Given the description of an element on the screen output the (x, y) to click on. 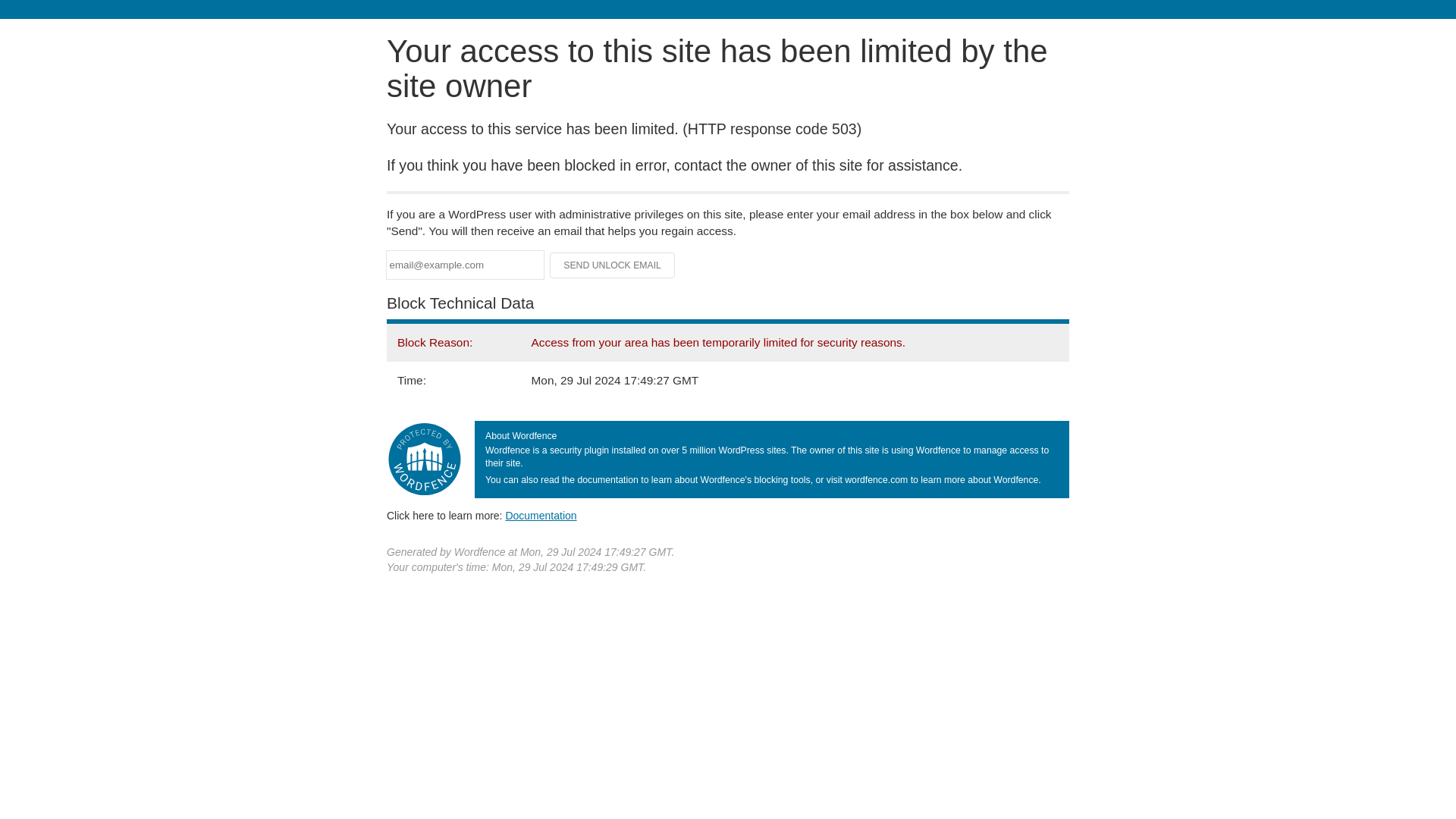
Send Unlock Email (612, 265)
Send Unlock Email (612, 265)
Documentation (540, 515)
